Given the description of an element on the screen output the (x, y) to click on. 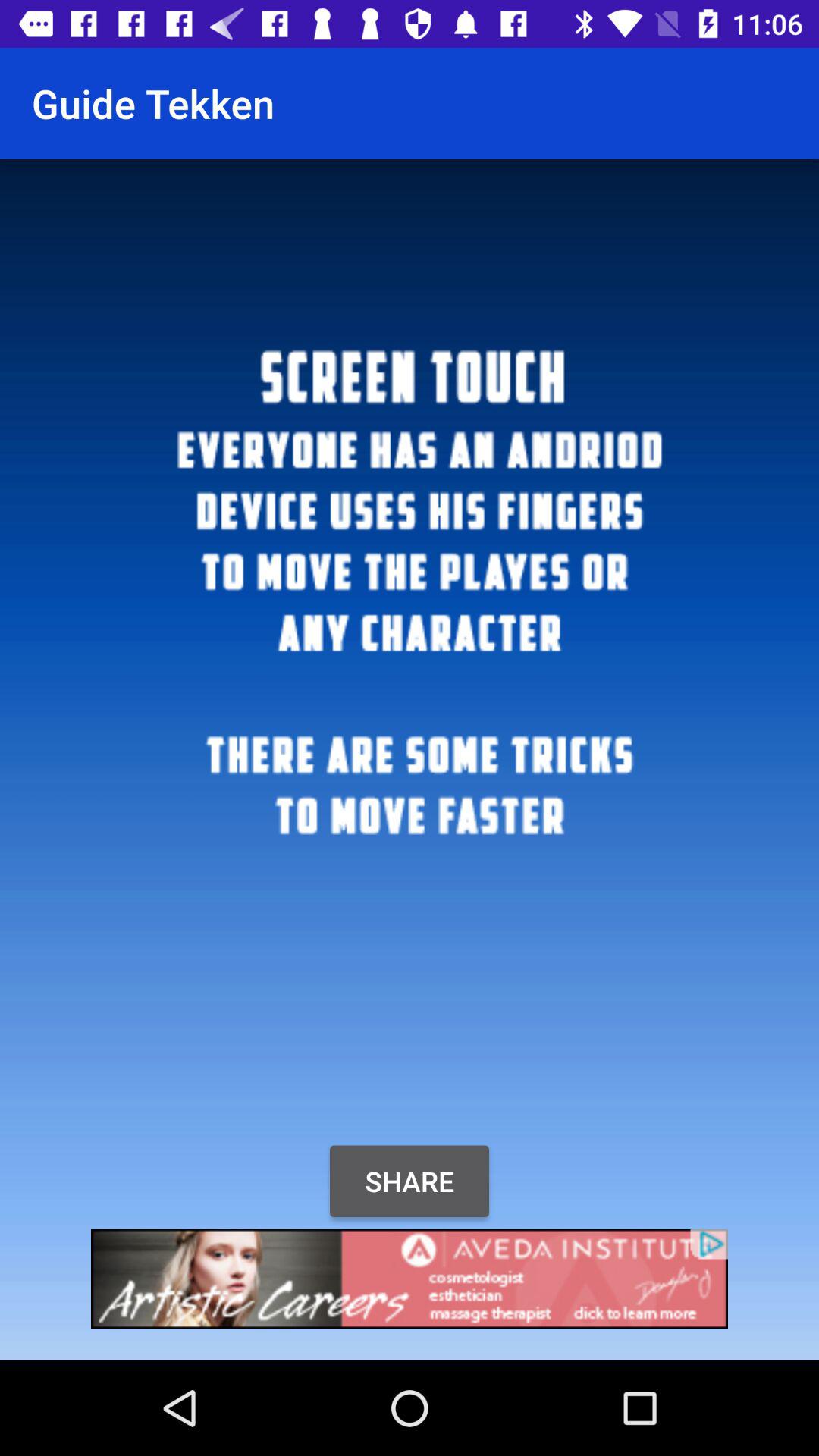
advert banner (409, 1278)
